Given the description of an element on the screen output the (x, y) to click on. 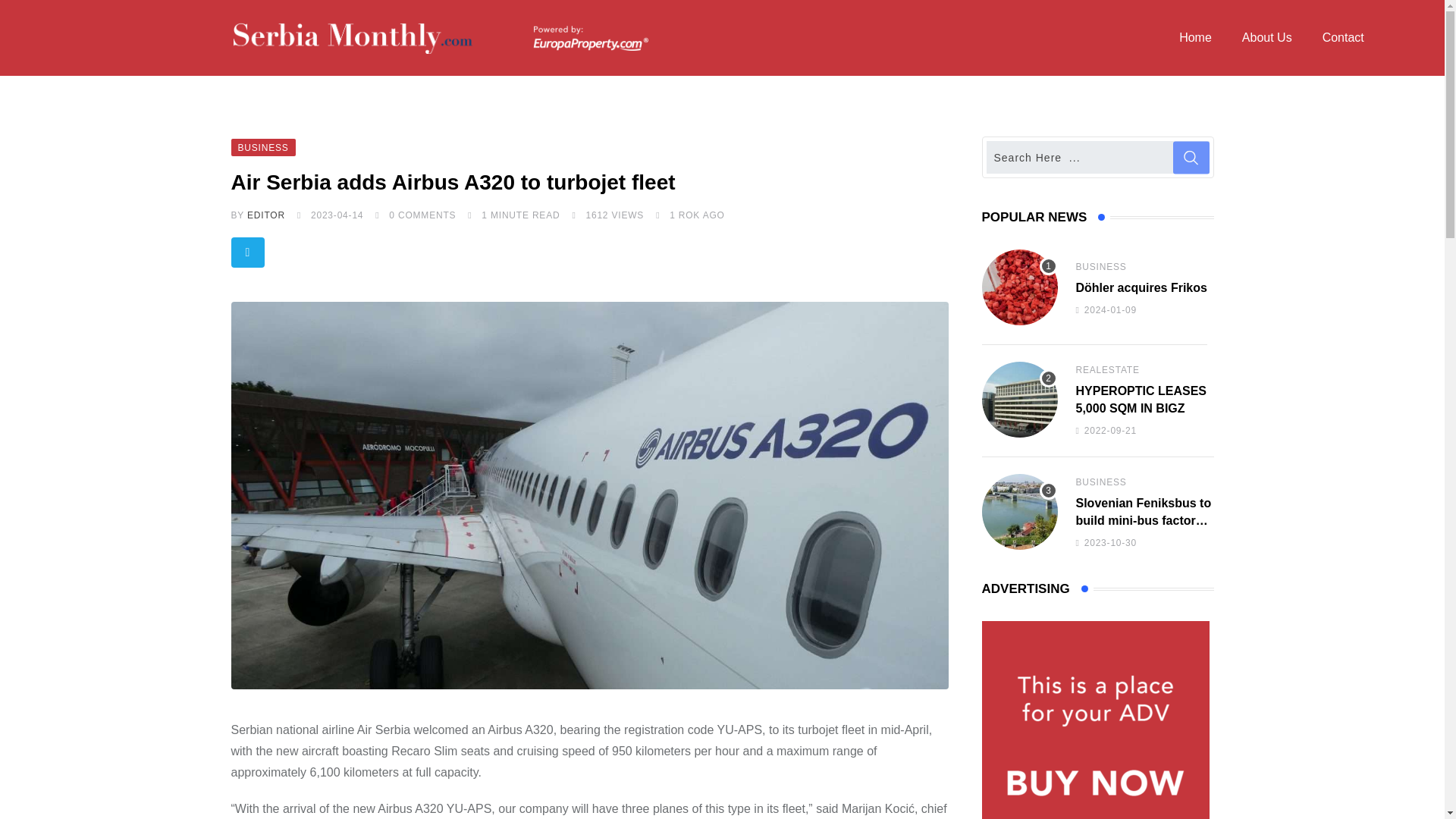
About Us (1267, 37)
BUSINESS (262, 146)
Home (1195, 37)
HYPEROPTIC LEASES 5,000 SQM IN BIGZ (1019, 399)
Contact (1342, 37)
EDITOR (266, 214)
Wpisy od Editor (266, 214)
